Given the description of an element on the screen output the (x, y) to click on. 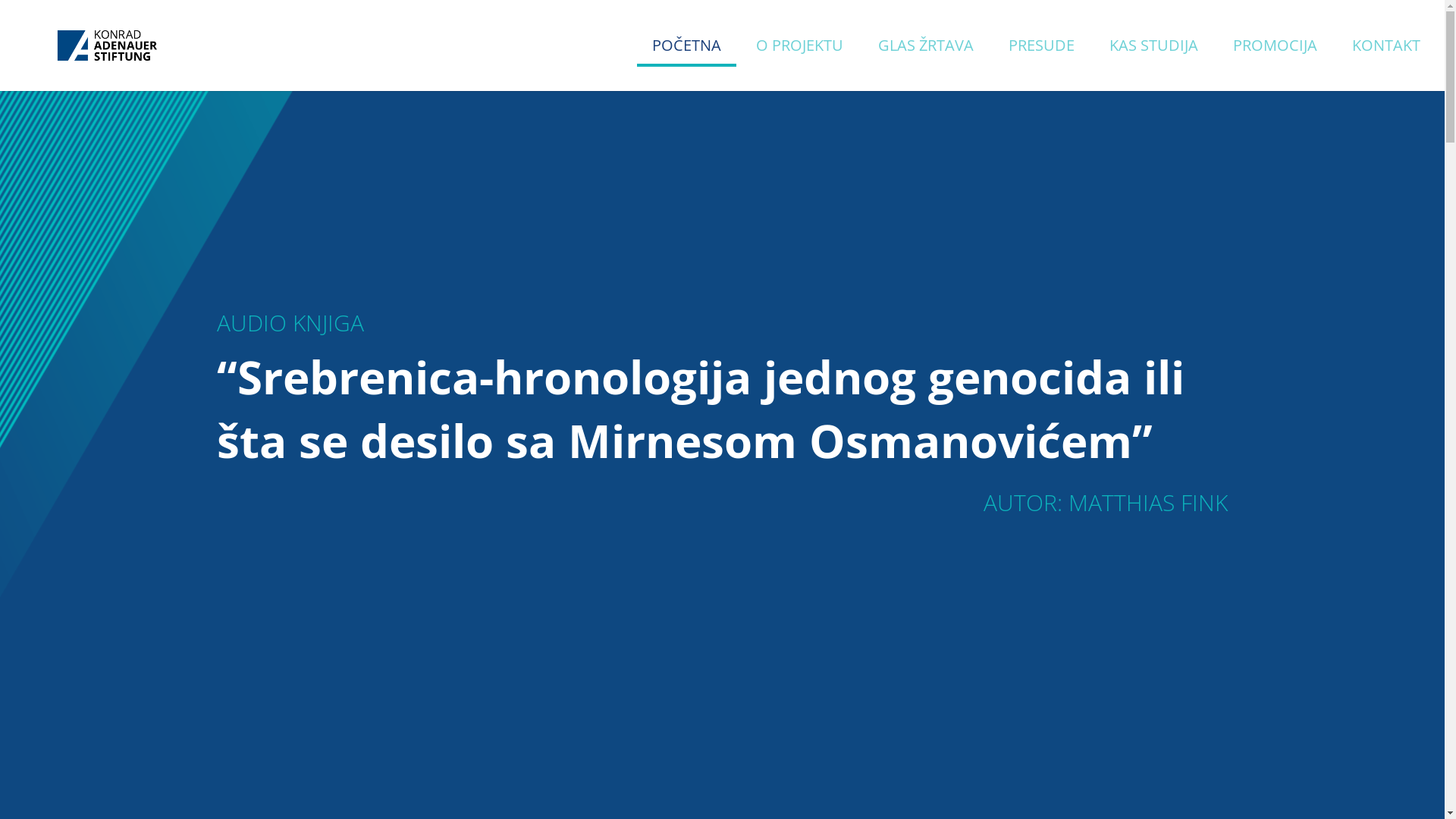
O PROJEKTU Element type: text (799, 65)
PROMOCIJA Element type: text (1275, 65)
KAS STUDIJA Element type: text (1153, 65)
KONTAKT Element type: text (1386, 65)
PRESUDE Element type: text (1041, 65)
